Given the description of an element on the screen output the (x, y) to click on. 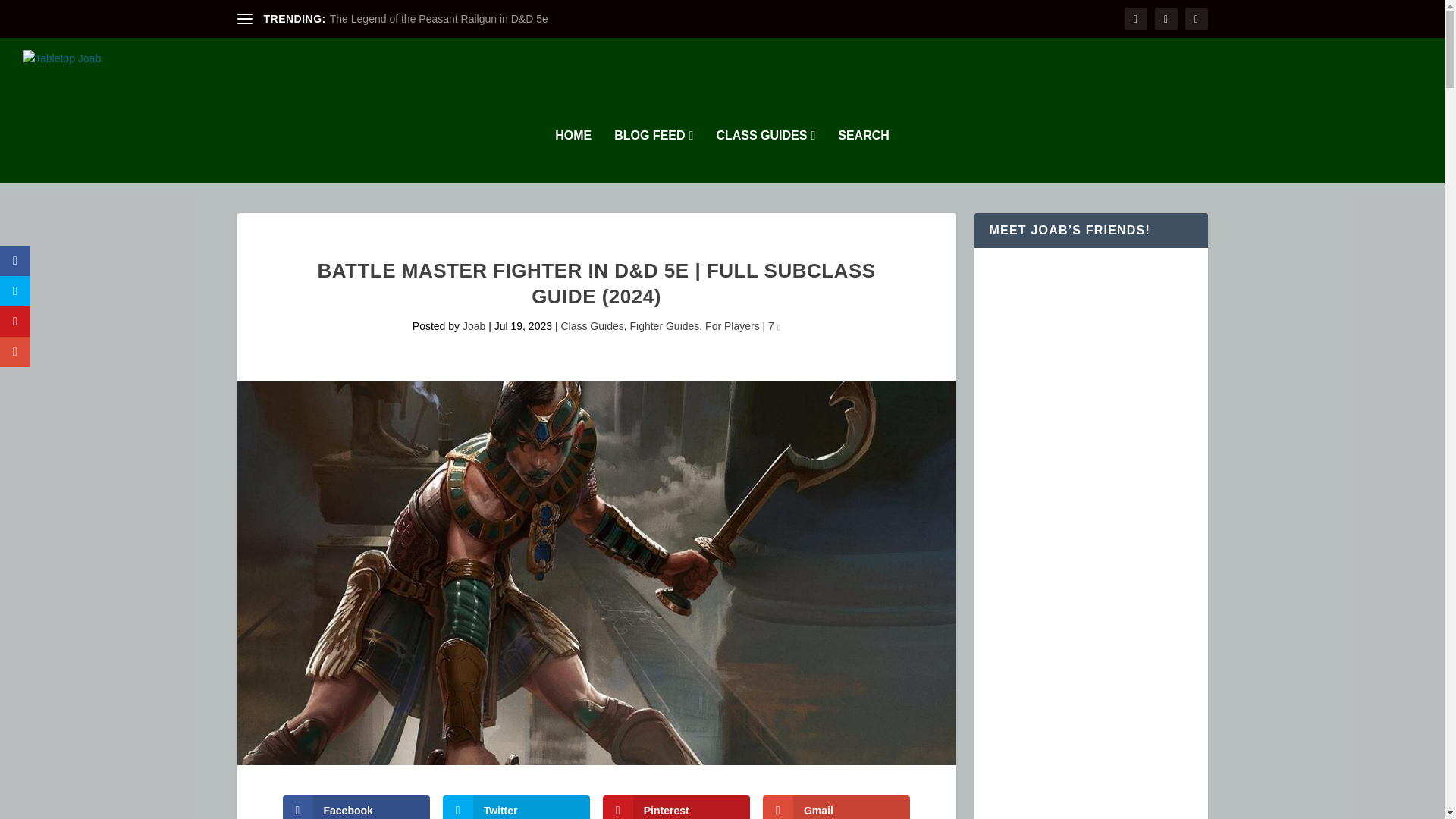
For Players (732, 326)
Class Guides (591, 326)
BLOG FEED (653, 155)
Joab (473, 326)
Twitter (516, 807)
SEARCH (863, 155)
Pinterest (676, 807)
Fighter Guides (663, 326)
Facebook (355, 807)
Gmail (836, 807)
CLASS GUIDES (765, 155)
Posts by Joab (473, 326)
7 (774, 326)
